Given the description of an element on the screen output the (x, y) to click on. 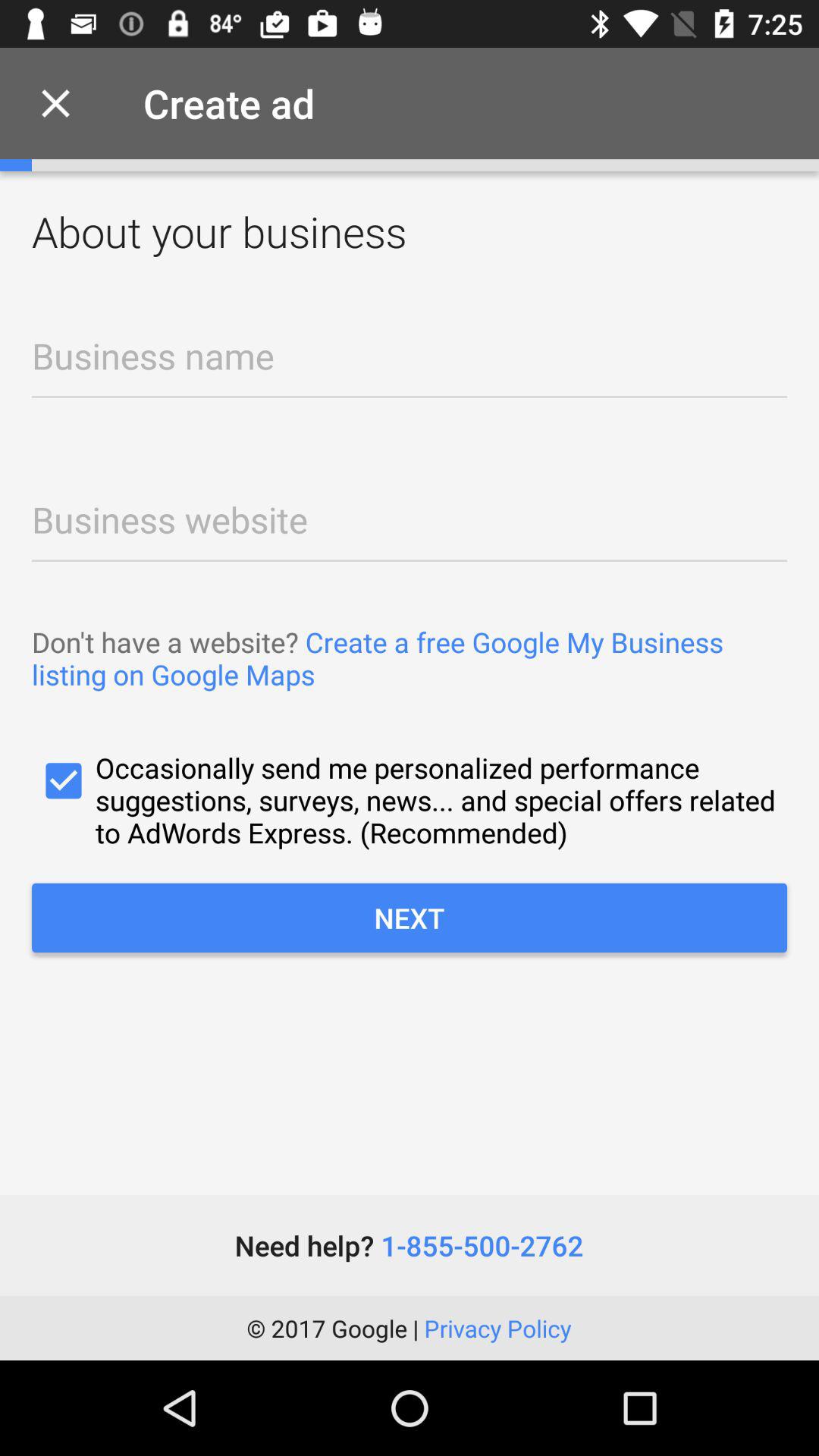
add business website (409, 515)
